Given the description of an element on the screen output the (x, y) to click on. 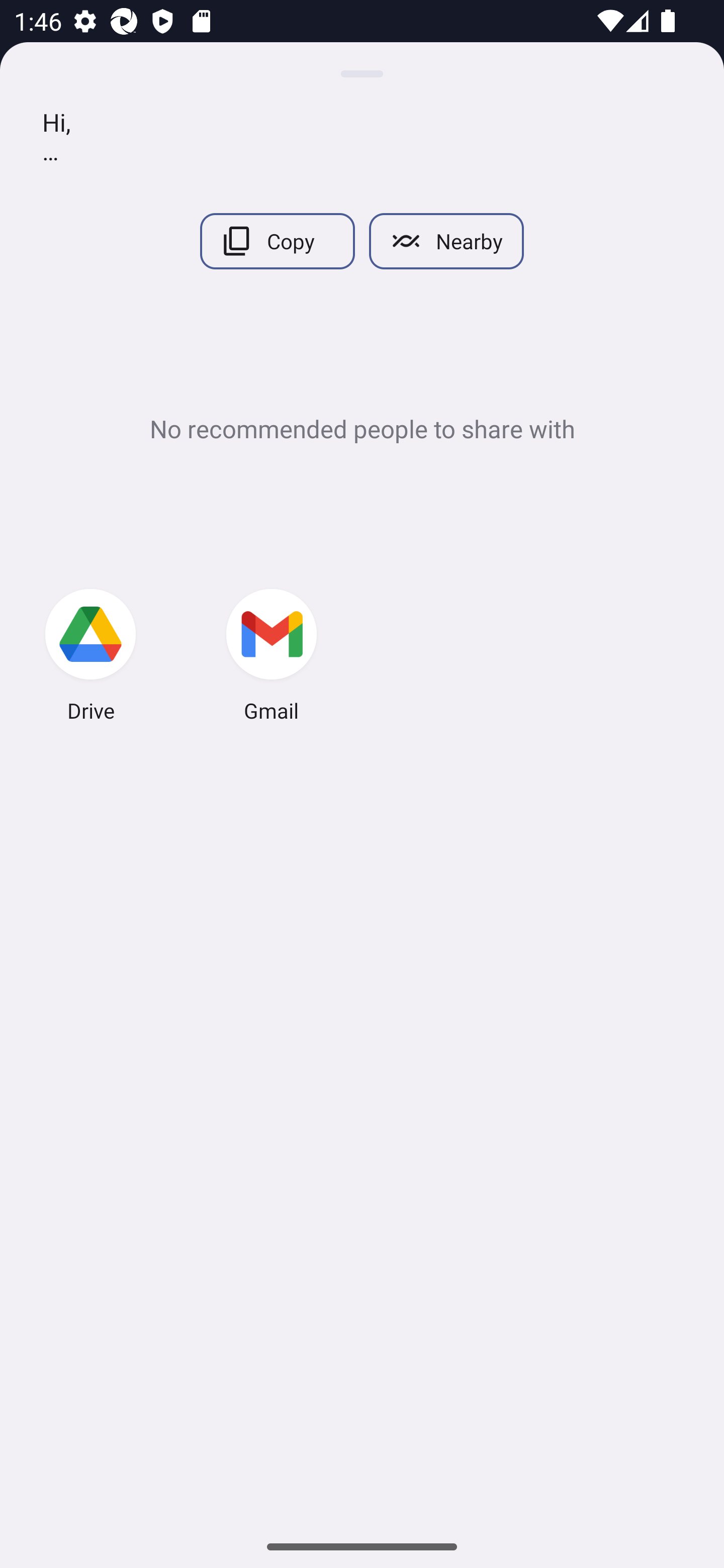
Copy (276, 241)
Nearby (446, 241)
Drive (90, 658)
Gmail (271, 658)
